Given the description of an element on the screen output the (x, y) to click on. 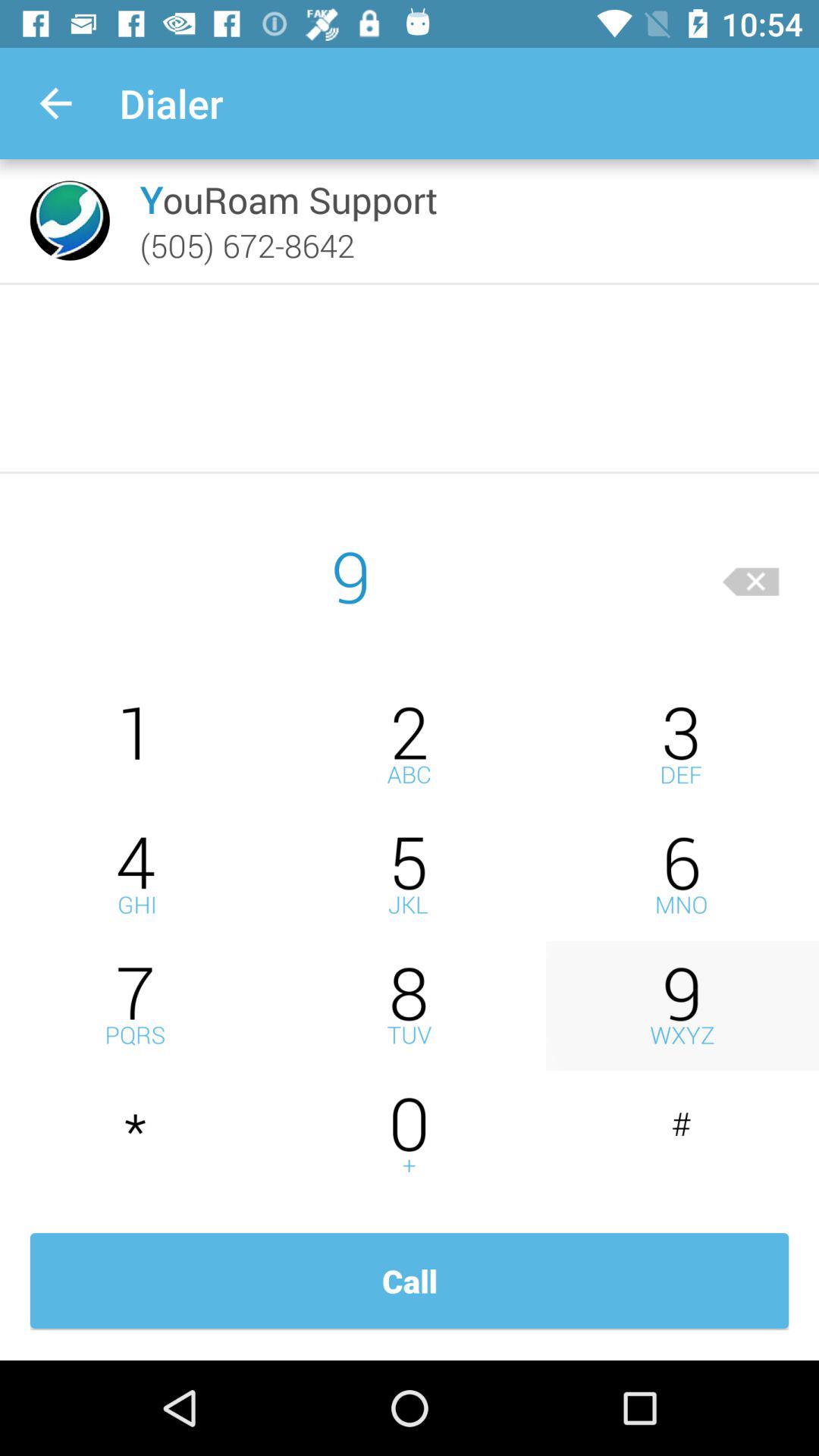
dial pad button for asterisk key (136, 1135)
